Given the description of an element on the screen output the (x, y) to click on. 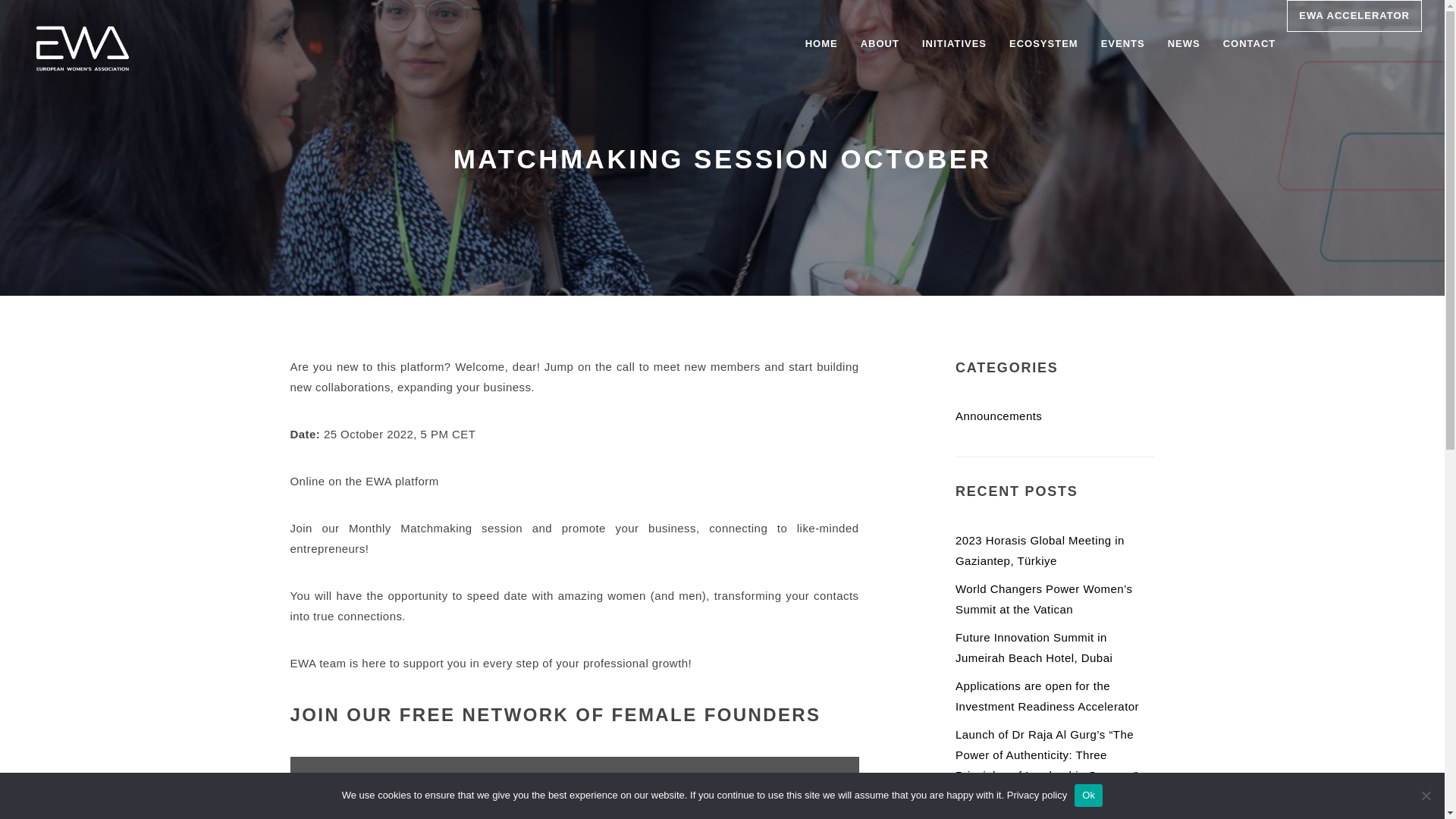
JOIN (574, 777)
Announcements (998, 415)
No (1425, 795)
INITIATIVES (954, 43)
European Women Association (82, 46)
ECOSYSTEM (1043, 43)
EWA ACCELERATOR (1354, 15)
